Given the description of an element on the screen output the (x, y) to click on. 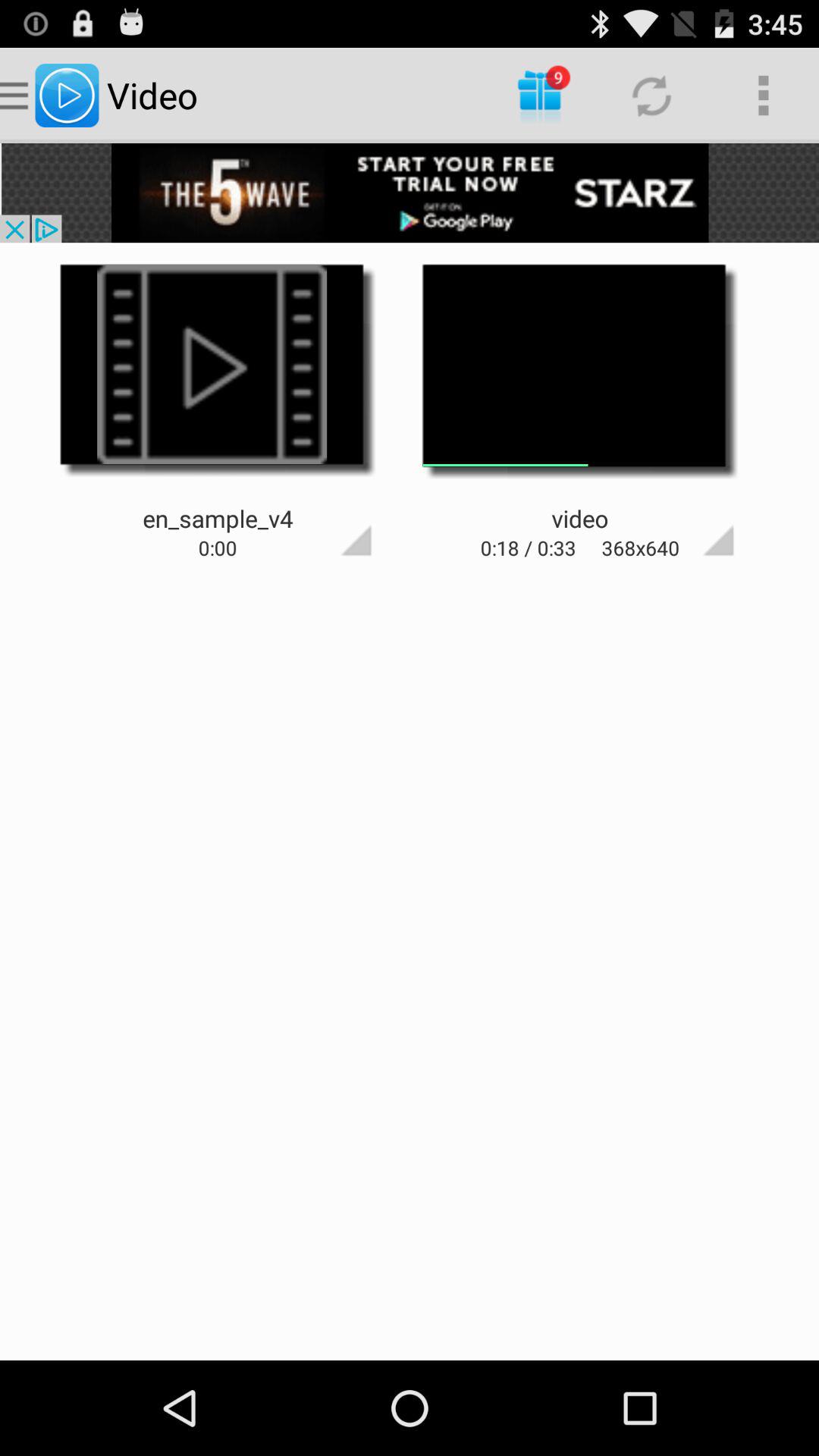
google page (691, 513)
